Given the description of an element on the screen output the (x, y) to click on. 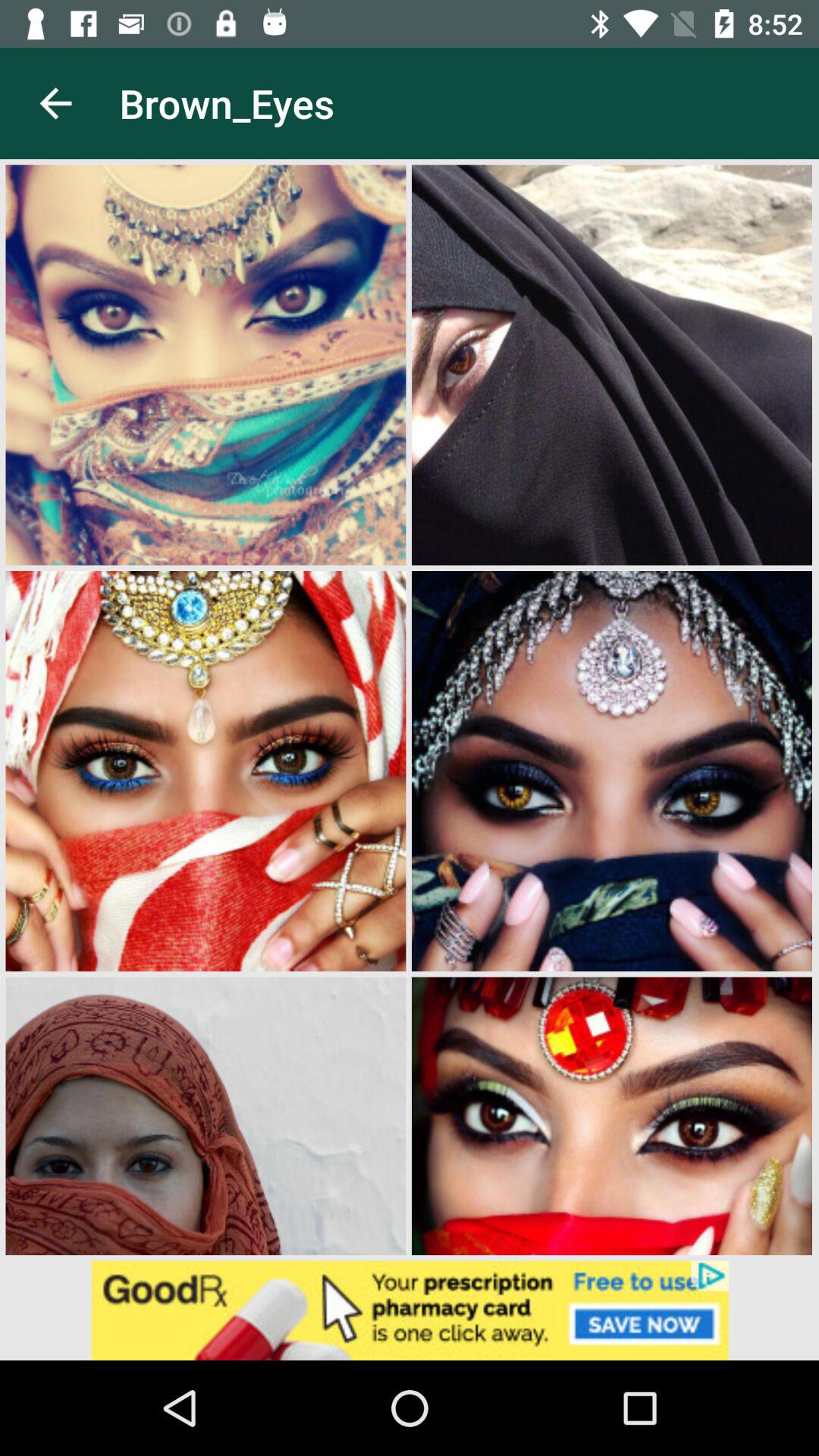
get redirected to goodrx (409, 1310)
